Given the description of an element on the screen output the (x, y) to click on. 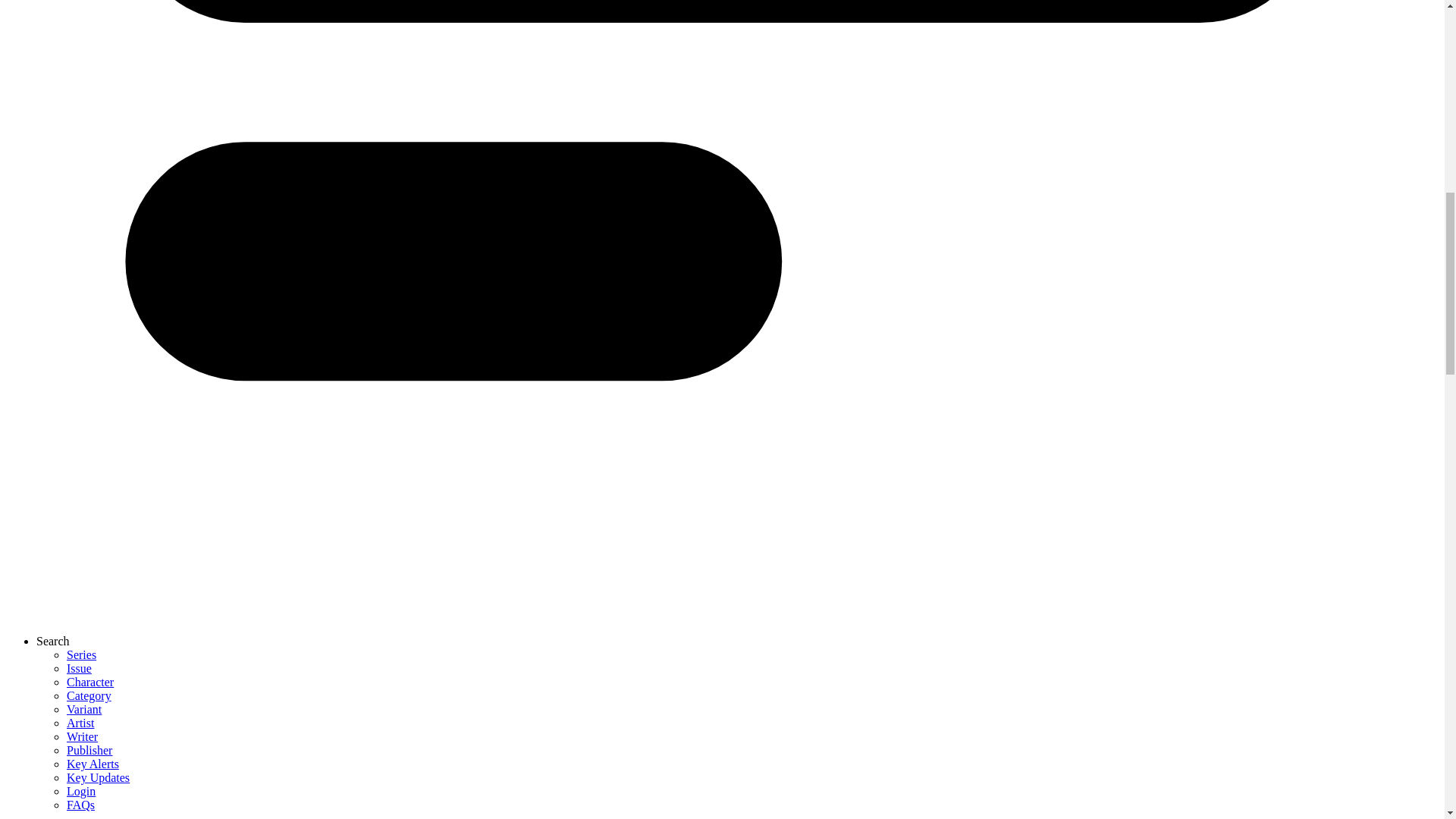
FAQs (80, 804)
Issue (78, 667)
Writer (81, 736)
Key Alerts (92, 763)
Series (81, 654)
Key Updates (97, 777)
Publisher (89, 749)
Login (81, 790)
Category (89, 695)
Character (89, 681)
Artist (80, 722)
Variant (83, 708)
